Given the description of an element on the screen output the (x, y) to click on. 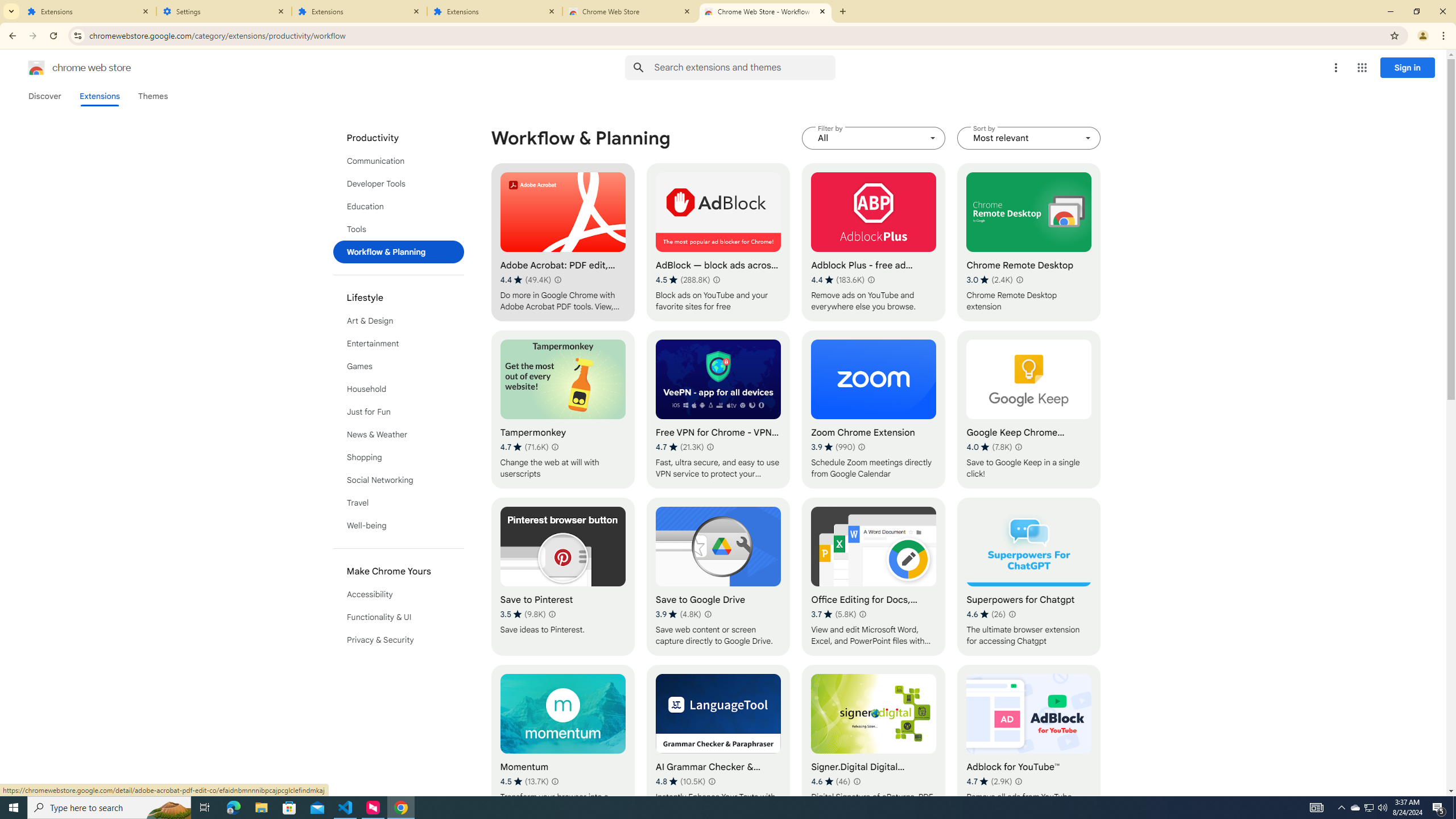
Art & Design (398, 320)
Chrome Web Store logo chrome web store (67, 67)
Travel (398, 502)
Education (398, 205)
Search input (744, 67)
Average rating 4.5 out of 5 stars. 13.7K ratings. (523, 781)
